Given the description of an element on the screen output the (x, y) to click on. 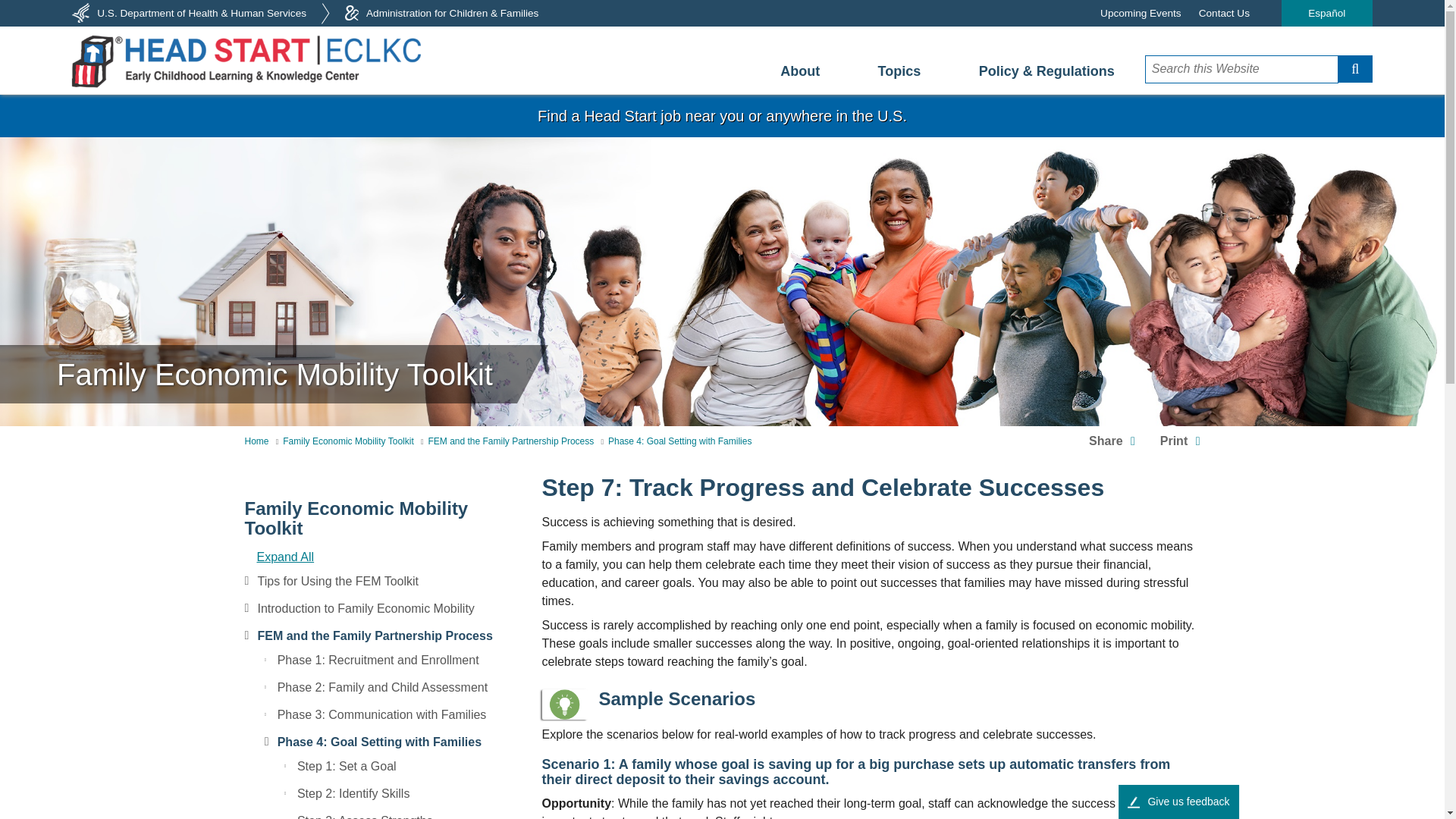
Skip to main content (721, 98)
Job Center (722, 116)
ECLKC homepage (245, 61)
Topics (899, 71)
Contact Us (1223, 13)
Printer Friendly and PDF (1179, 440)
Upcoming Events (1140, 13)
About (799, 71)
